Given the description of an element on the screen output the (x, y) to click on. 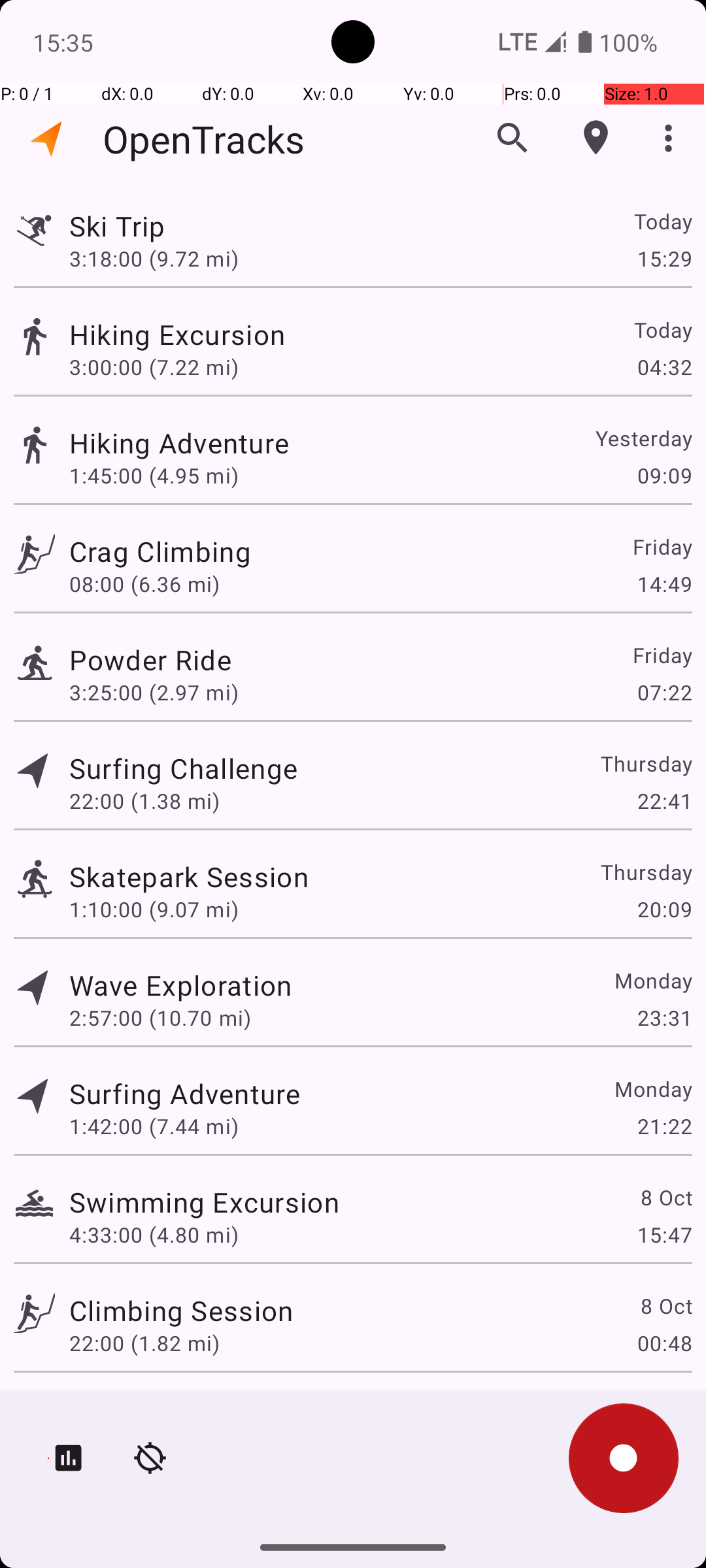
Ski Trip Element type: android.widget.TextView (180, 225)
3:18:00 (9.72 mi) Element type: android.widget.TextView (159, 258)
15:29 Element type: android.widget.TextView (664, 258)
Hiking Excursion Element type: android.widget.TextView (184, 333)
3:00:00 (7.22 mi) Element type: android.widget.TextView (153, 366)
04:32 Element type: android.widget.TextView (664, 366)
Hiking Adventure Element type: android.widget.TextView (203, 442)
1:45:00 (4.95 mi) Element type: android.widget.TextView (153, 475)
09:09 Element type: android.widget.TextView (664, 475)
Crag Climbing Element type: android.widget.TextView (180, 550)
08:00 (6.36 mi) Element type: android.widget.TextView (144, 583)
14:49 Element type: android.widget.TextView (664, 583)
Powder Ride Element type: android.widget.TextView (185, 659)
3:25:00 (2.97 mi) Element type: android.widget.TextView (153, 692)
07:22 Element type: android.widget.TextView (664, 692)
Surfing Challenge Element type: android.widget.TextView (183, 767)
22:00 (1.38 mi) Element type: android.widget.TextView (144, 800)
22:41 Element type: android.widget.TextView (664, 800)
Skatepark Session Element type: android.widget.TextView (188, 876)
1:10:00 (9.07 mi) Element type: android.widget.TextView (153, 909)
20:09 Element type: android.widget.TextView (664, 909)
Wave Exploration Element type: android.widget.TextView (180, 984)
2:57:00 (10.70 mi) Element type: android.widget.TextView (159, 1017)
23:31 Element type: android.widget.TextView (664, 1017)
Surfing Adventure Element type: android.widget.TextView (184, 1092)
1:42:00 (7.44 mi) Element type: android.widget.TextView (153, 1125)
21:22 Element type: android.widget.TextView (664, 1125)
Swimming Excursion Element type: android.widget.TextView (203, 1201)
4:33:00 (4.80 mi) Element type: android.widget.TextView (153, 1234)
15:47 Element type: android.widget.TextView (664, 1234)
Climbing Session Element type: android.widget.TextView (180, 1309)
22:00 (1.82 mi) Element type: android.widget.TextView (144, 1342)
00:48 Element type: android.widget.TextView (664, 1342)
Rowing Adventure Element type: android.widget.TextView (185, 1408)
